Given the description of an element on the screen output the (x, y) to click on. 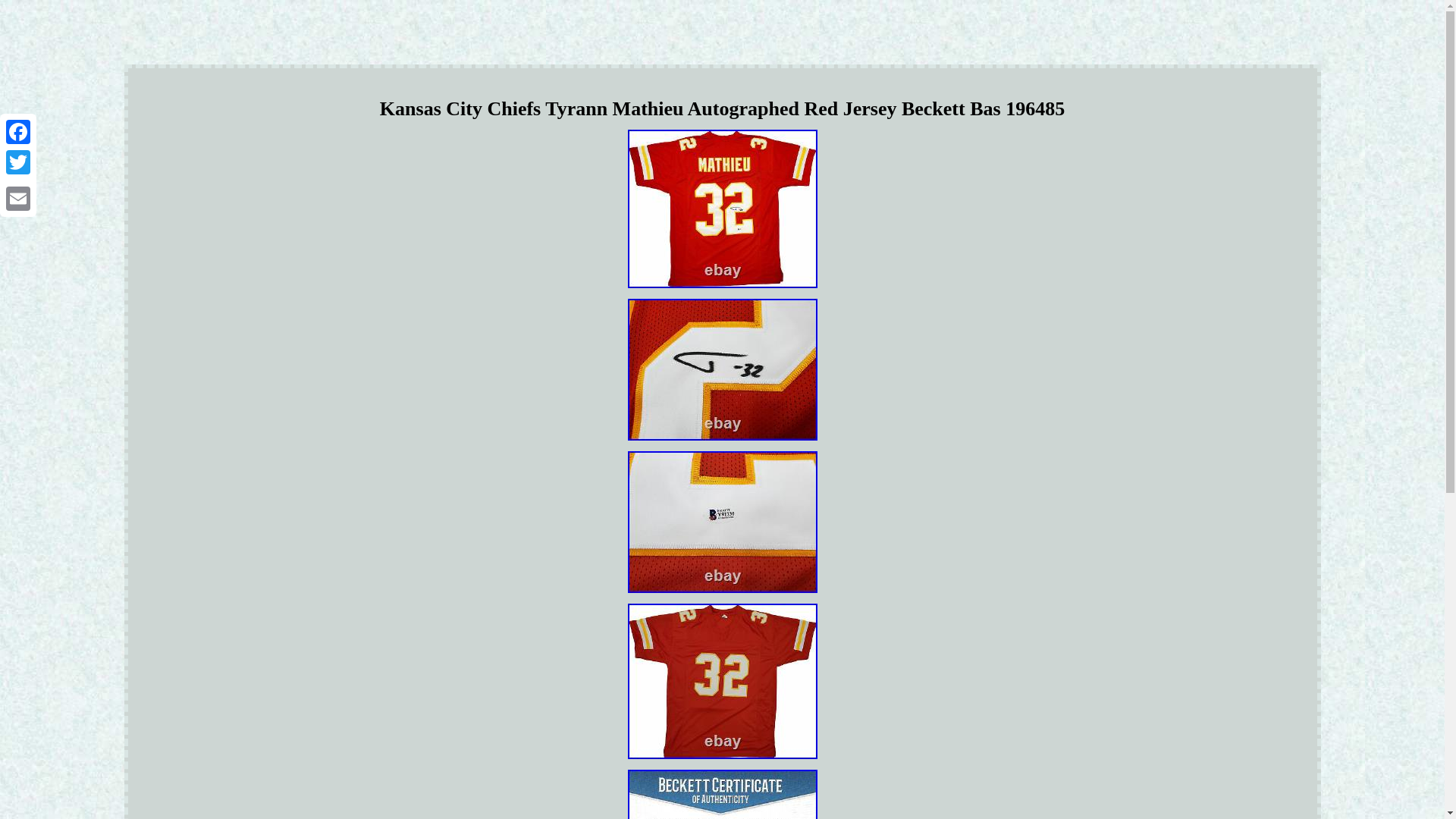
Twitter (17, 162)
Email (17, 198)
Facebook (17, 132)
